Given the description of an element on the screen output the (x, y) to click on. 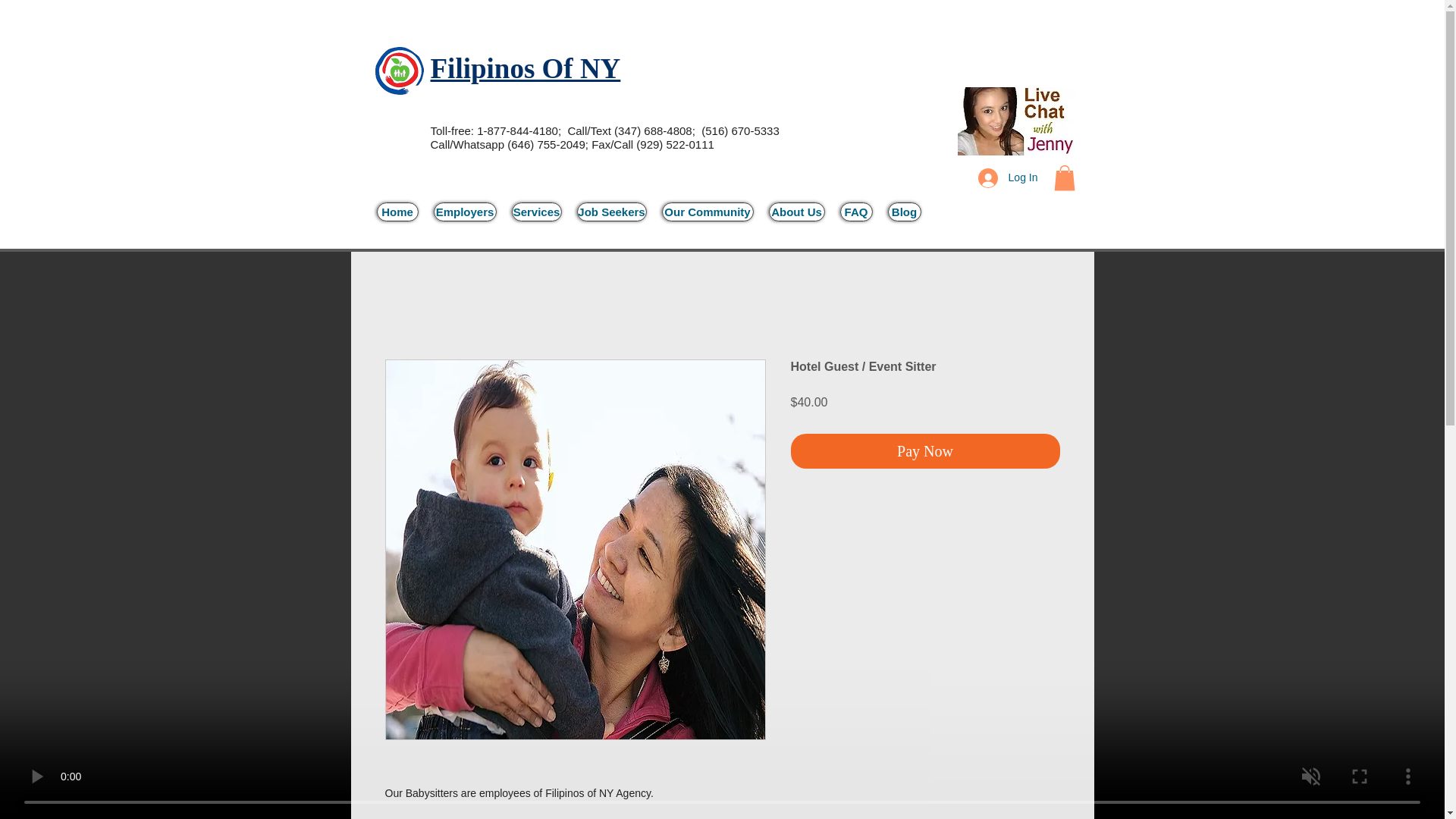
Filipinos Of NY (525, 68)
Services (535, 211)
Log In (1008, 177)
Employers (464, 211)
Job Seekers (611, 211)
Home (396, 211)
